Given the description of an element on the screen output the (x, y) to click on. 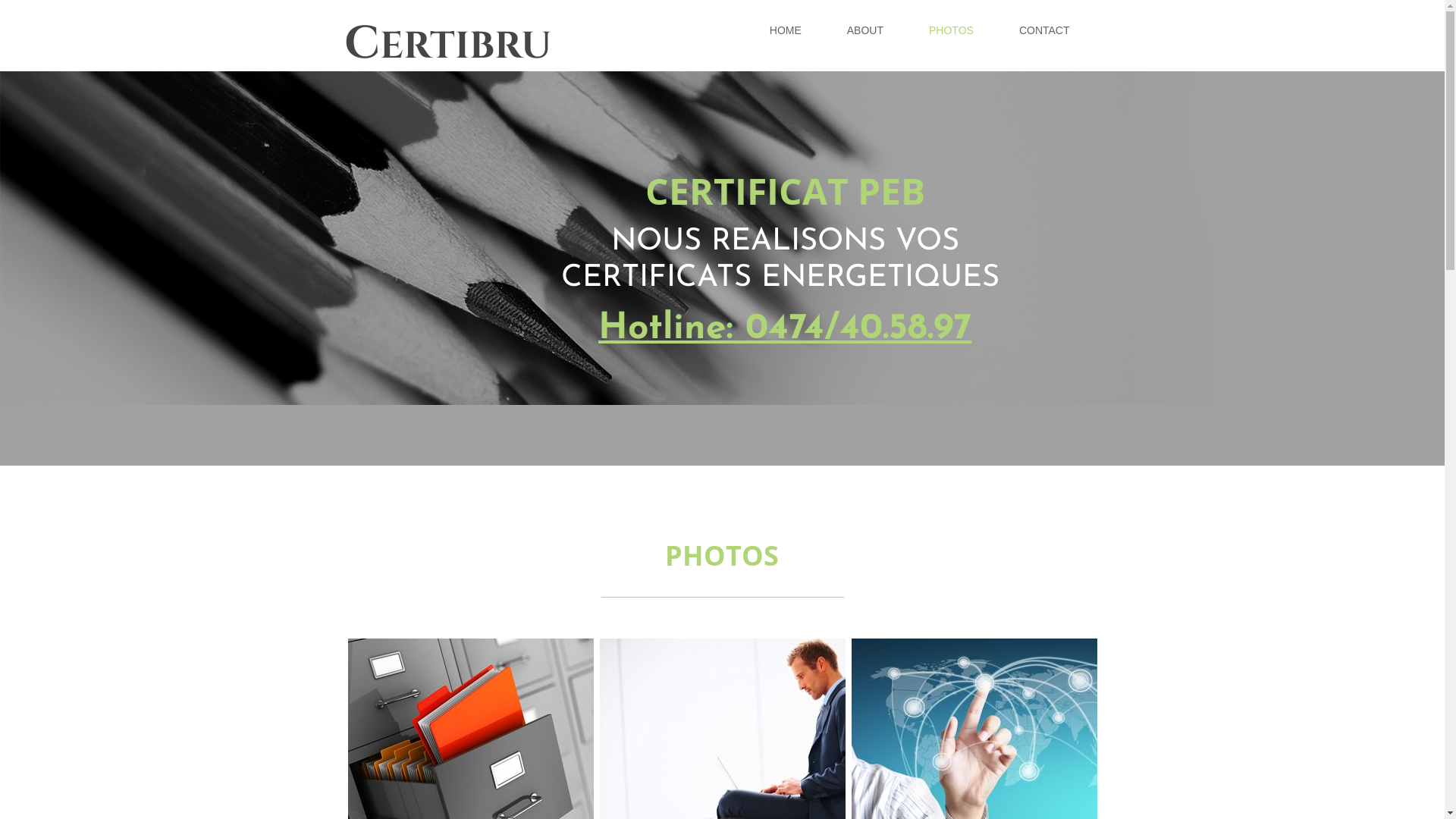
HOME Element type: text (785, 29)
PHOTOS Element type: text (721, 555)
PHOTOS Element type: text (951, 29)
ABOUT Element type: text (865, 29)
CONTACT Element type: text (1044, 29)
